Given the description of an element on the screen output the (x, y) to click on. 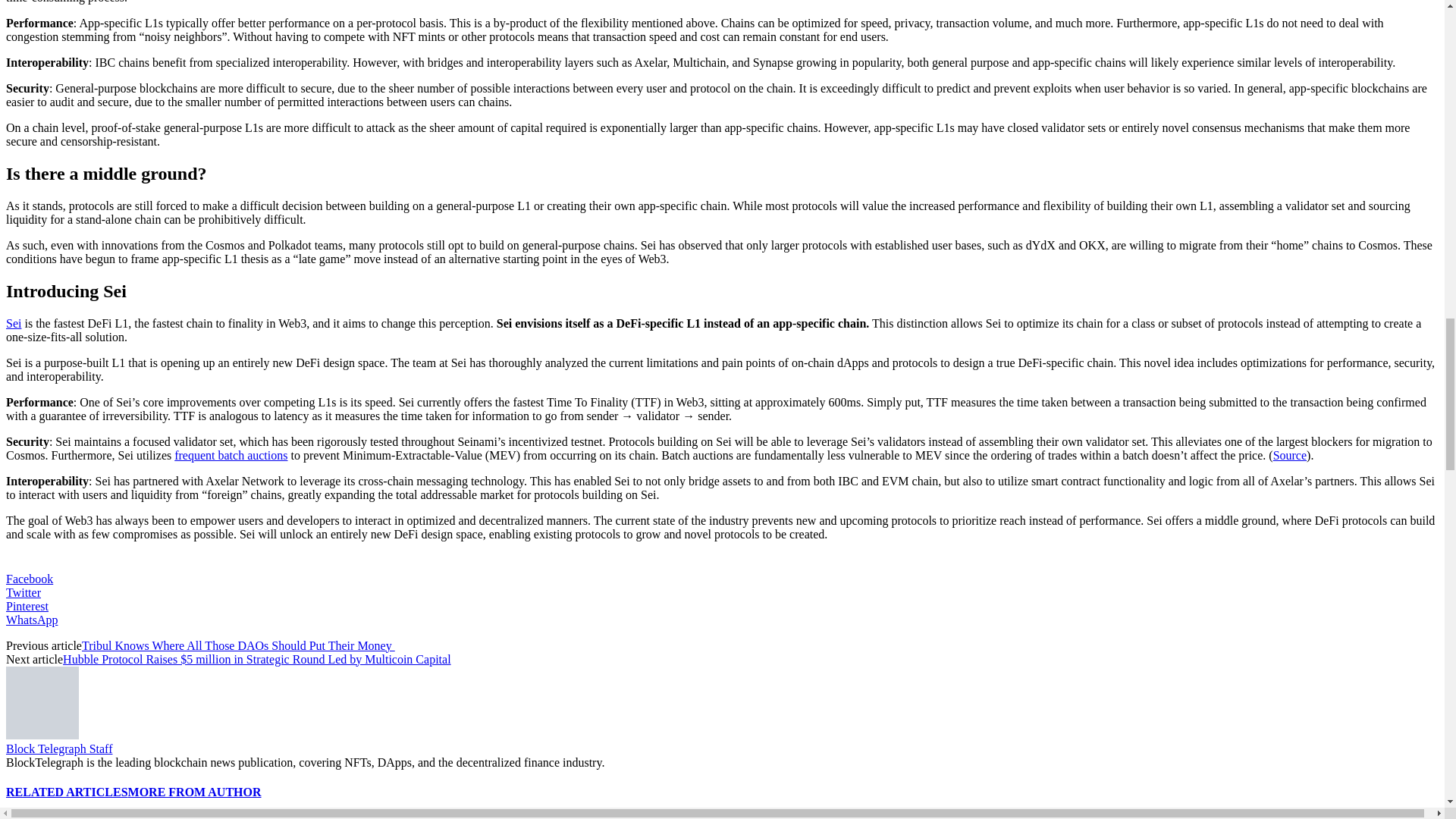
bottomFacebookLike (118, 561)
